Given the description of an element on the screen output the (x, y) to click on. 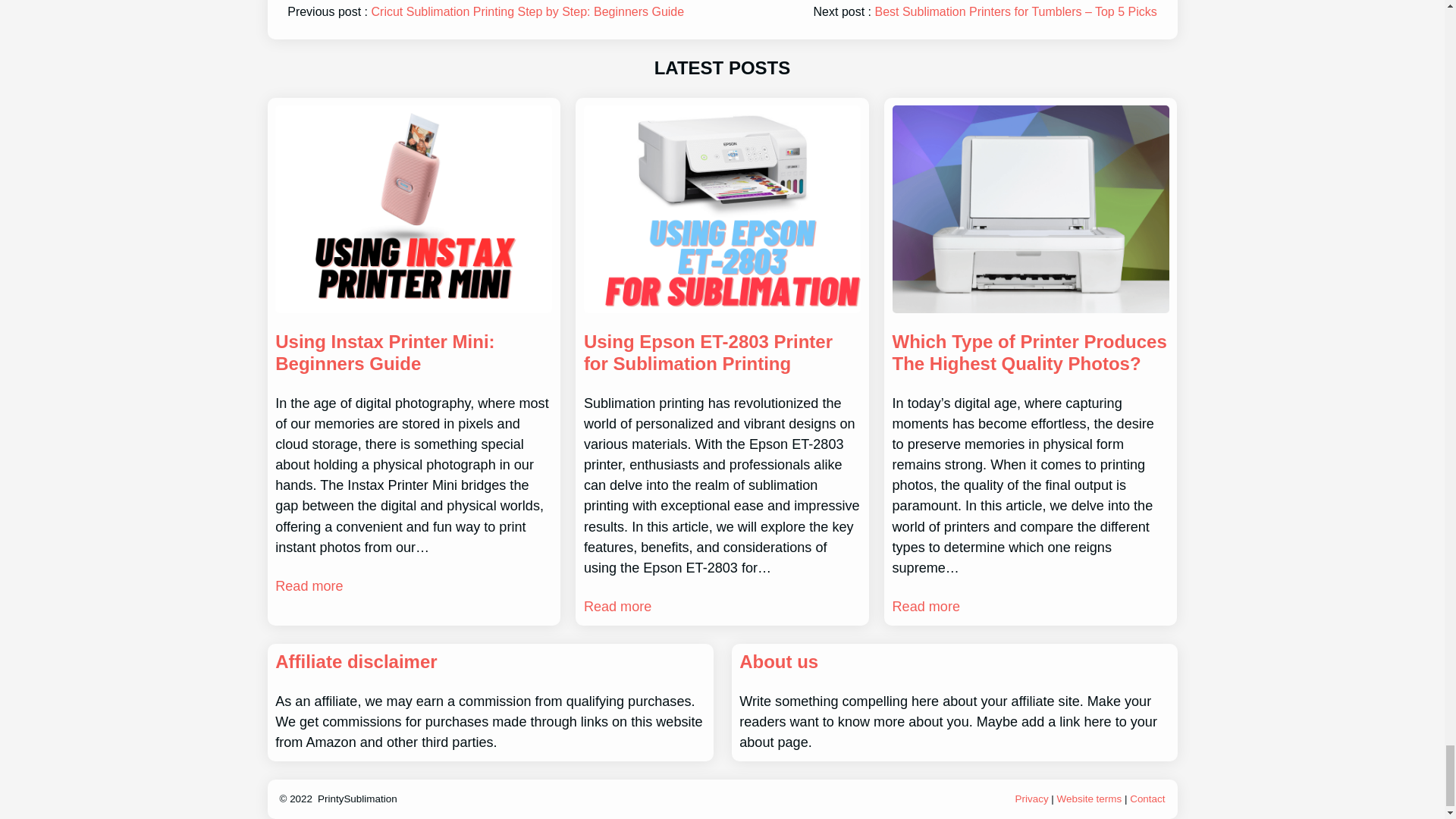
Read more (616, 607)
Using Instax Printer Mini: Beginners Guide (413, 353)
PrintySublimation (357, 798)
Read more (308, 586)
Read more (925, 607)
Privacy (1032, 798)
Which Type of Printer Produces The Highest Quality Photos? (1030, 353)
Using Epson ET-2803 Printer for Sublimation Printing (721, 353)
Cricut Sublimation Printing Step by Step: Beginners Guide (527, 11)
Contact (1146, 798)
